Given the description of an element on the screen output the (x, y) to click on. 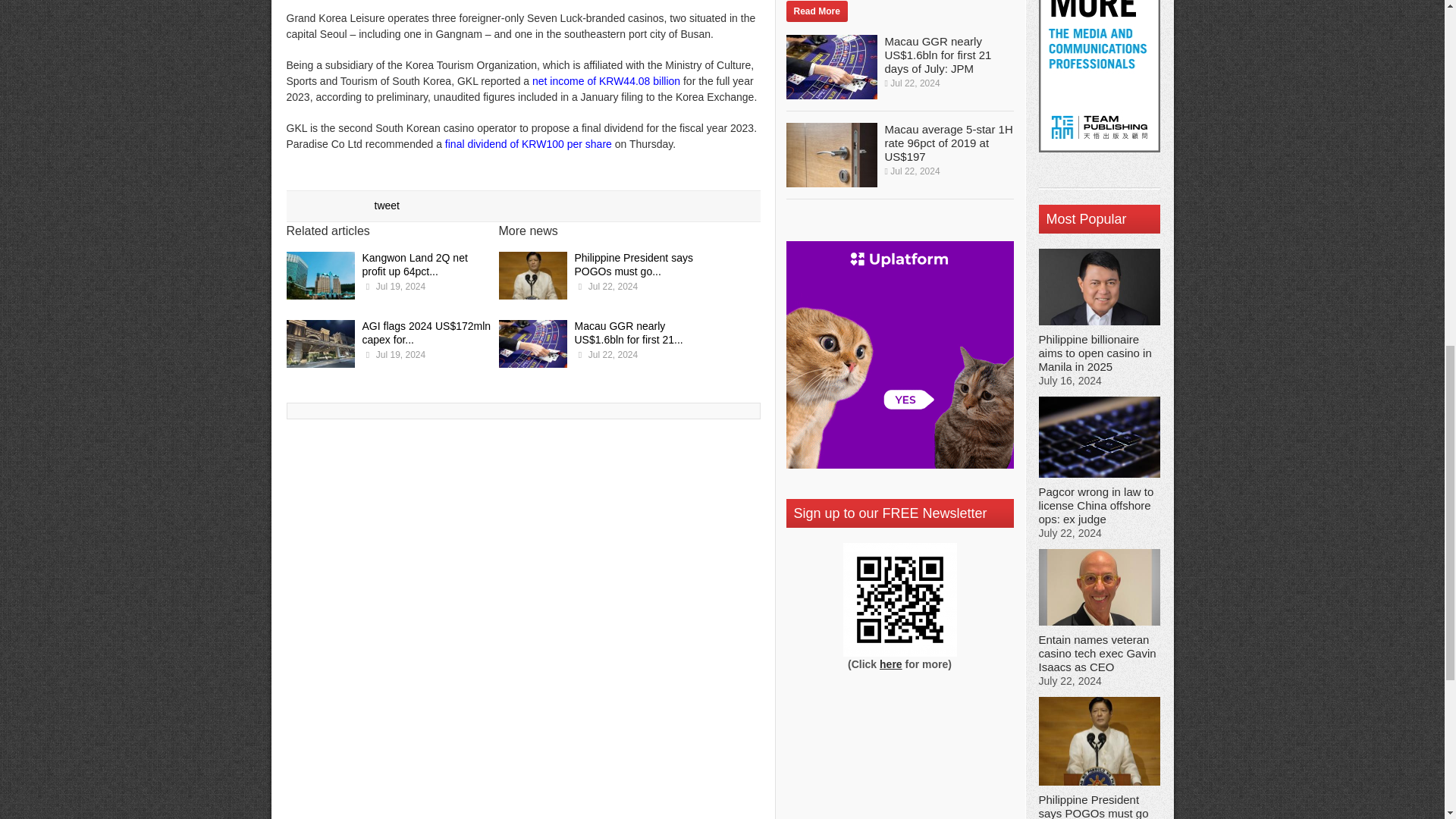
tweet (386, 205)
net income of KRW44.08 billion (605, 80)
Kangwon Land 2Q net profit up 64pct... (414, 264)
Philippine President says POGOs must go... (634, 264)
Philippine President says POGOs must go by year-end (533, 277)
final dividend of KRW100 per share (528, 143)
